Given the description of an element on the screen output the (x, y) to click on. 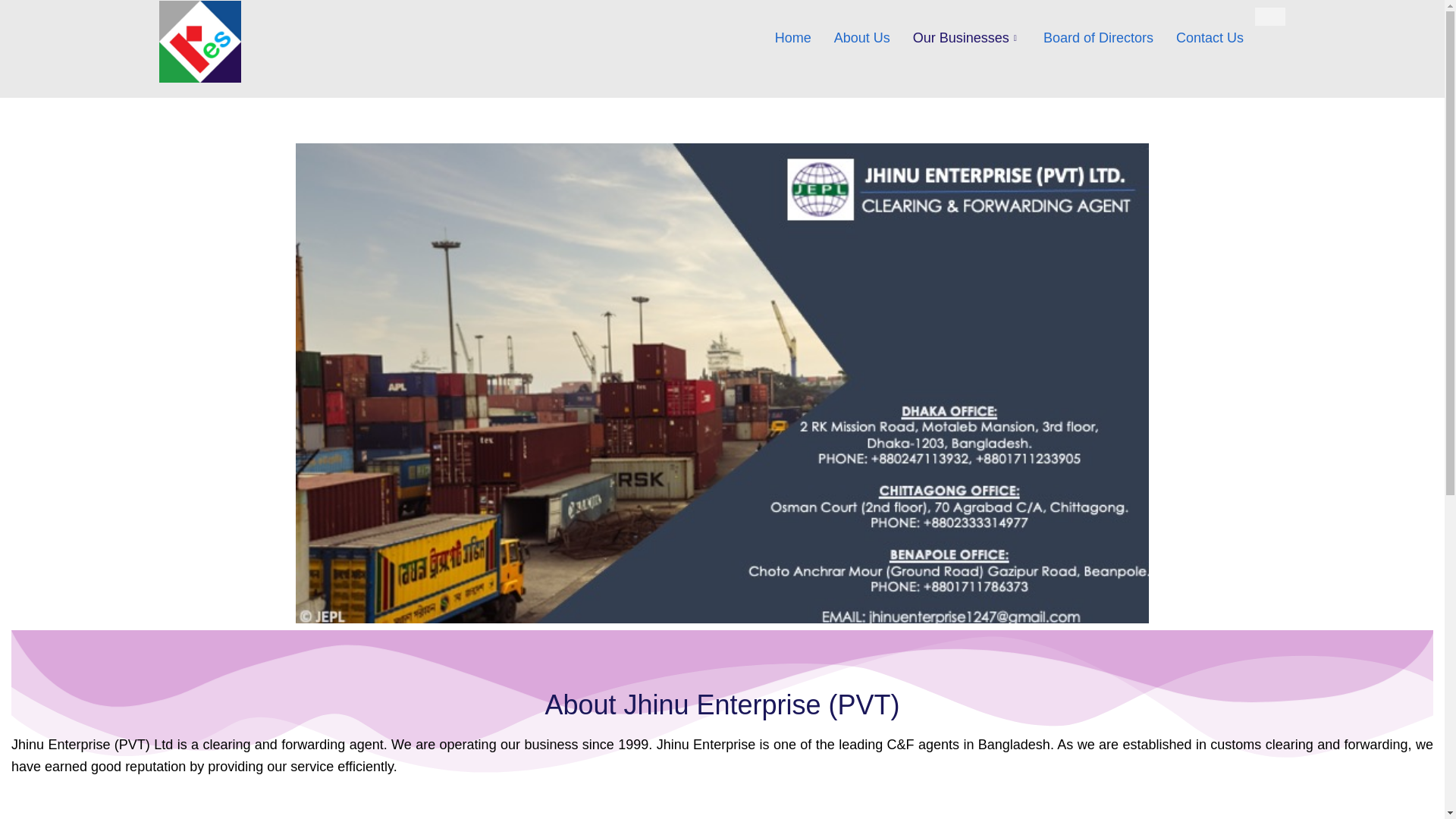
Board of Directors (1098, 37)
Contact Us (1209, 37)
Our Businesses (966, 37)
Home (792, 37)
About Us (861, 37)
